Given the description of an element on the screen output the (x, y) to click on. 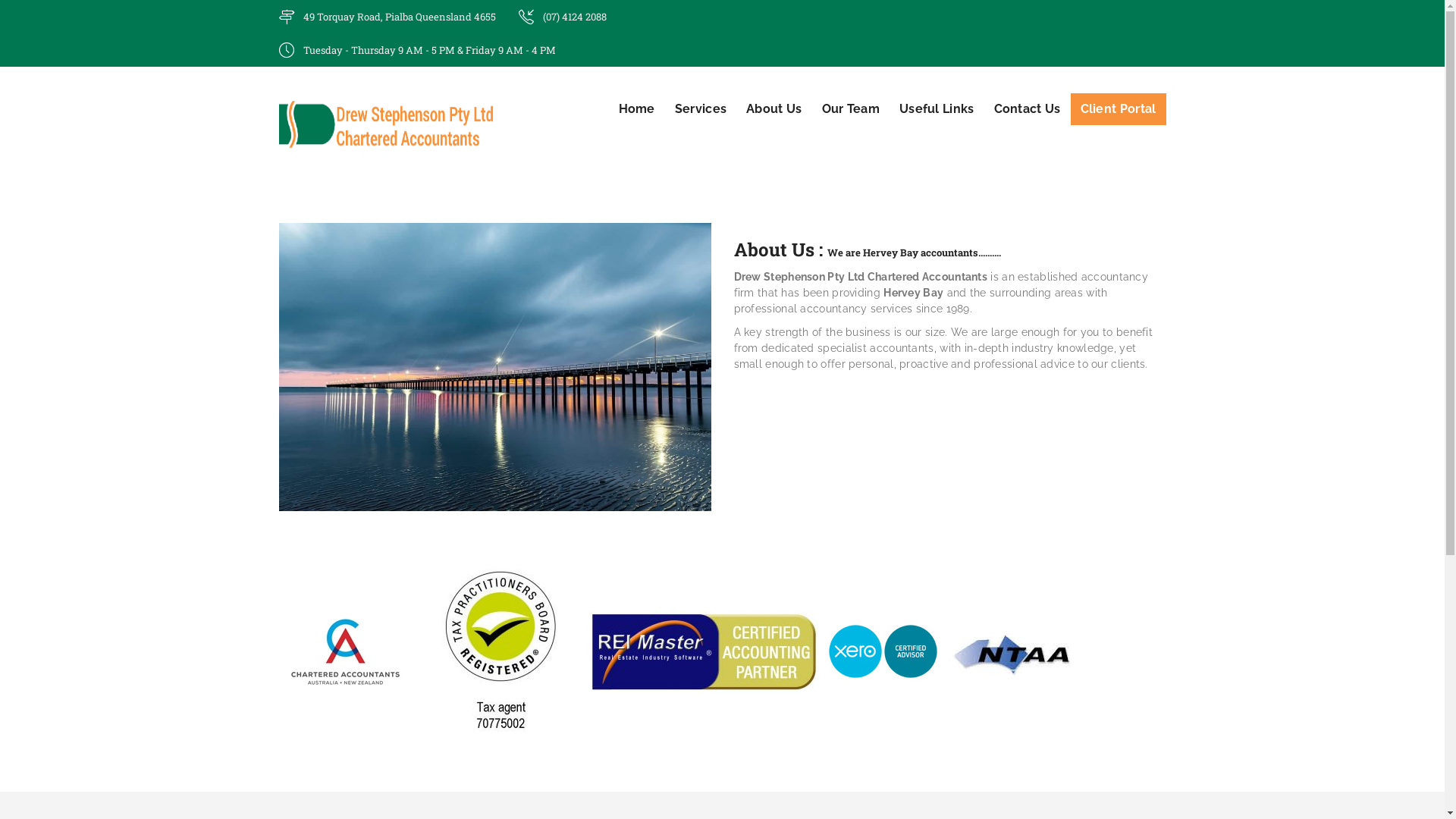
Home Element type: text (641, 109)
About Us Element type: text (773, 109)
Hervey Bay Pier Element type: hover (495, 366)
Useful Links Element type: text (936, 109)
Services Element type: text (700, 109)
Client Portal Element type: text (1118, 109)
Contact Us Element type: text (1027, 109)
Our Team Element type: text (850, 109)
